Given the description of an element on the screen output the (x, y) to click on. 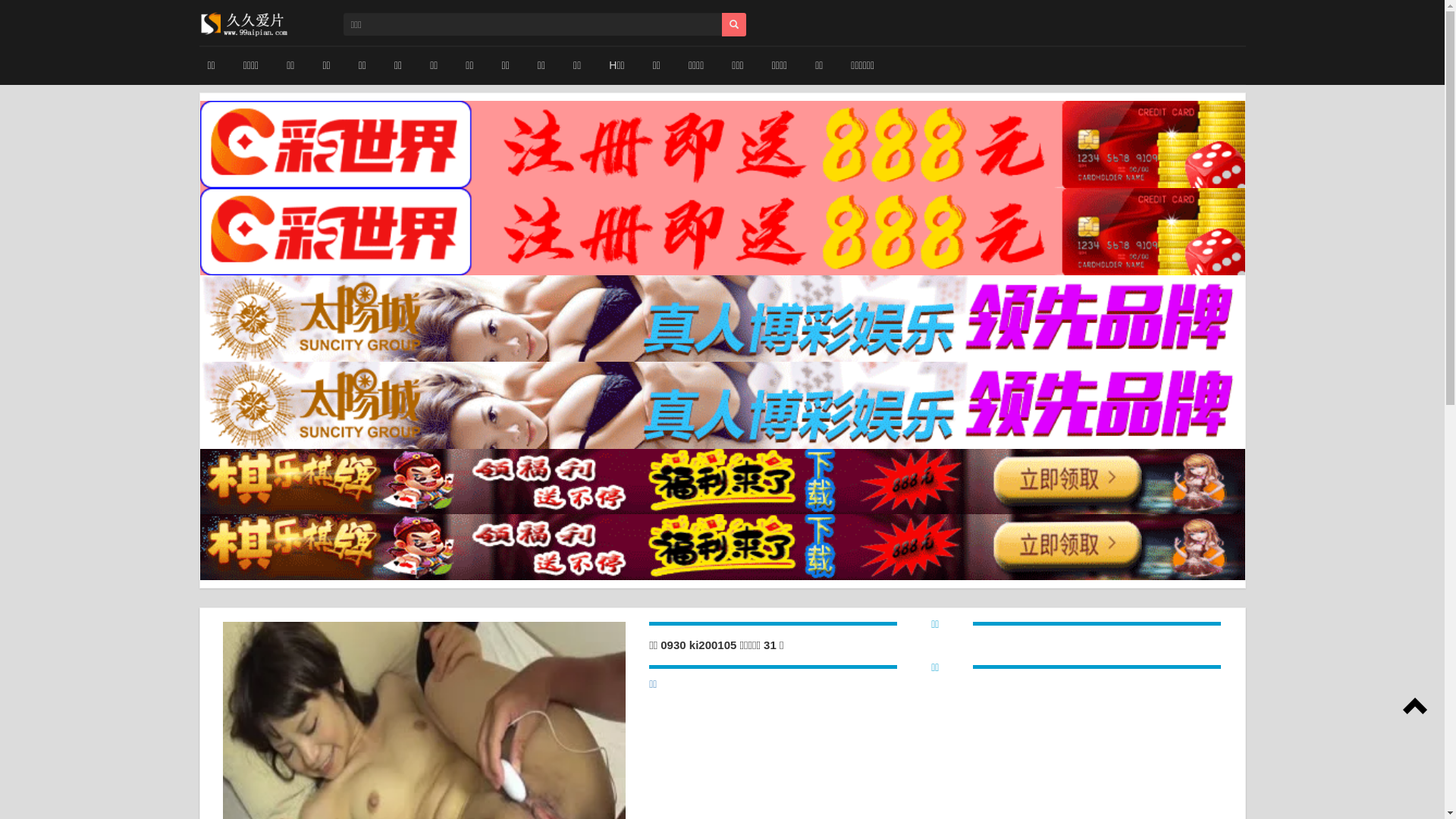
www.15h2.com Element type: hover (243, 22)
